Given the description of an element on the screen output the (x, y) to click on. 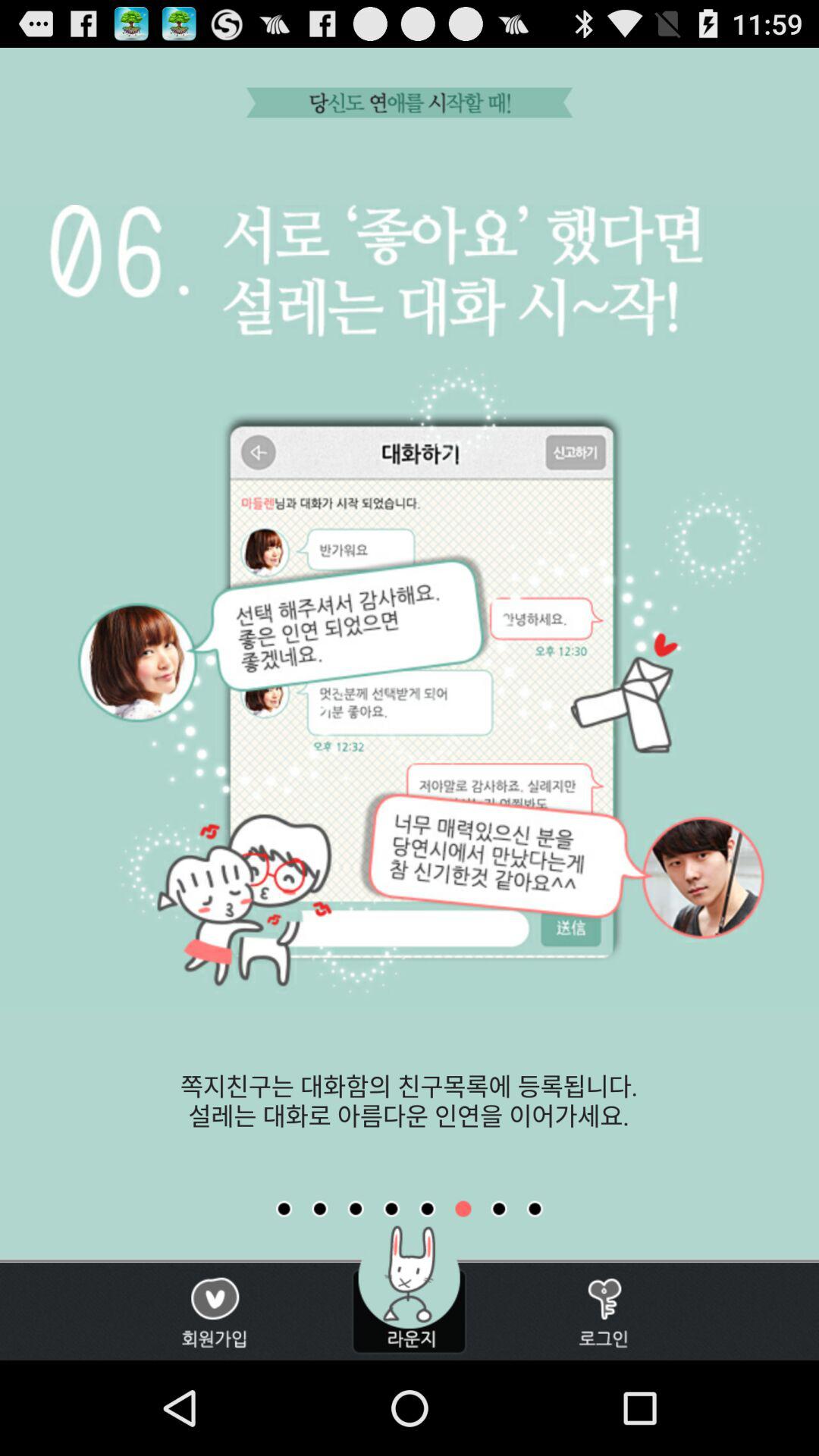
go to page 4 of the app (391, 1208)
